Given the description of an element on the screen output the (x, y) to click on. 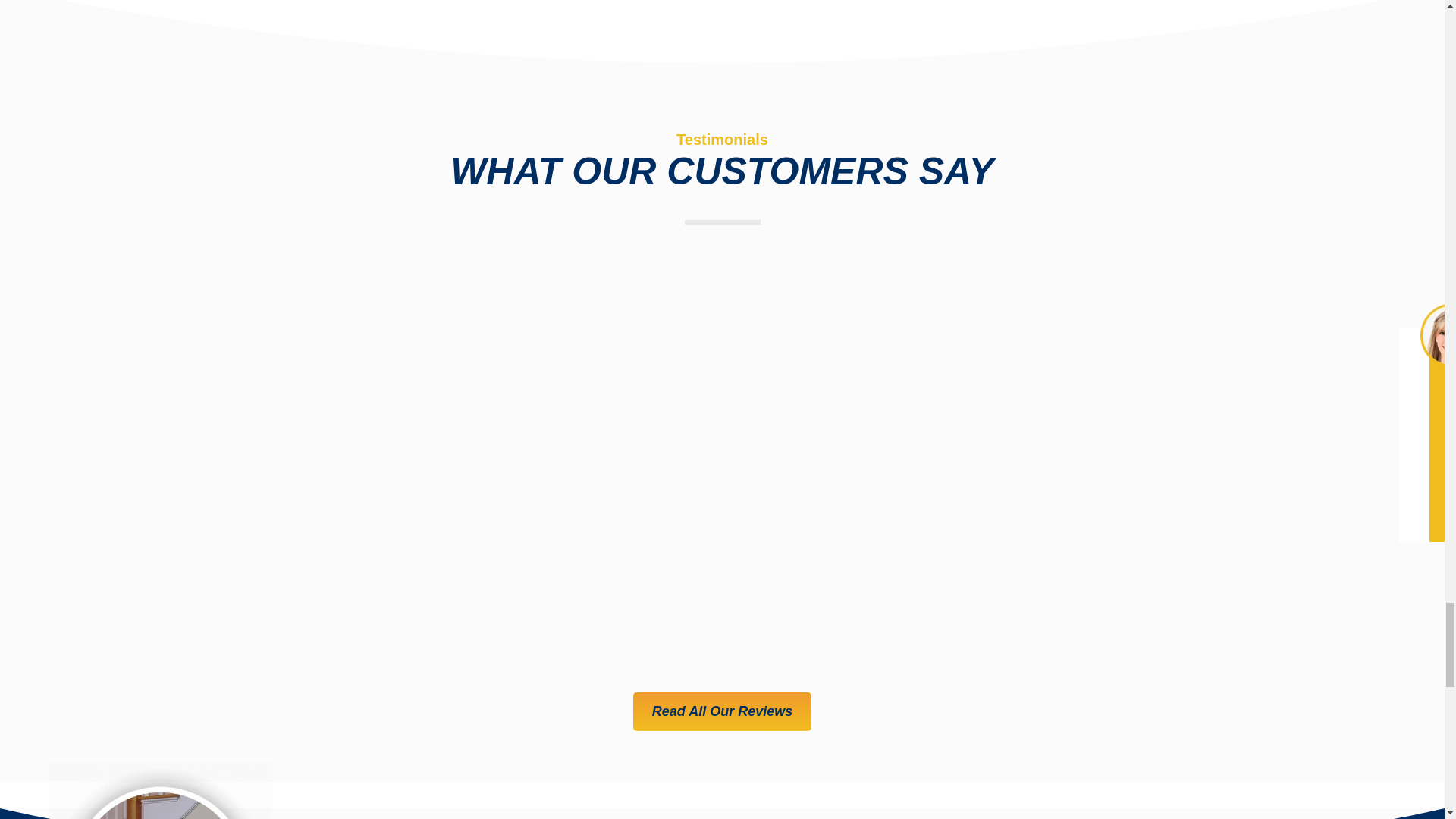
vision123 (160, 790)
Read All Our Reviews (721, 711)
